Given the description of an element on the screen output the (x, y) to click on. 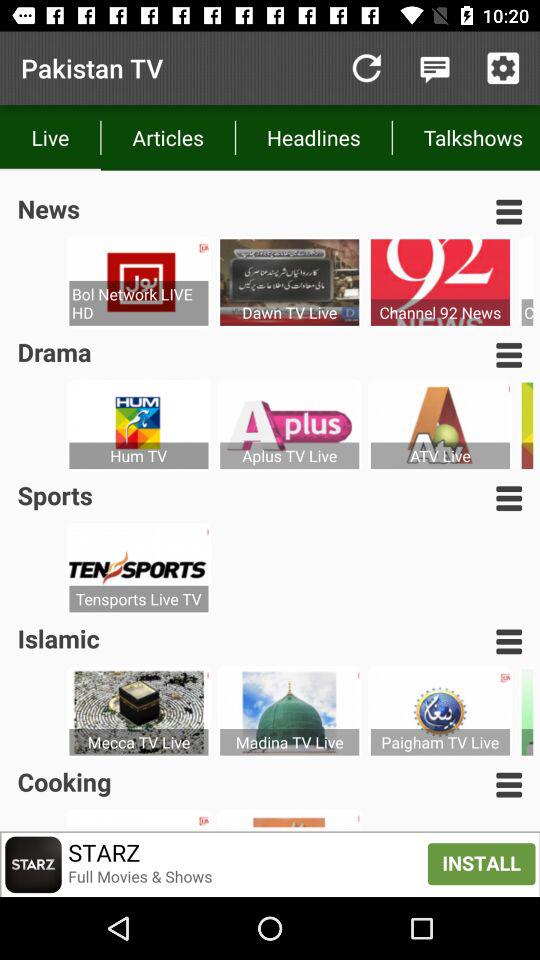
jump until the aplus tv live icon (289, 455)
